Given the description of an element on the screen output the (x, y) to click on. 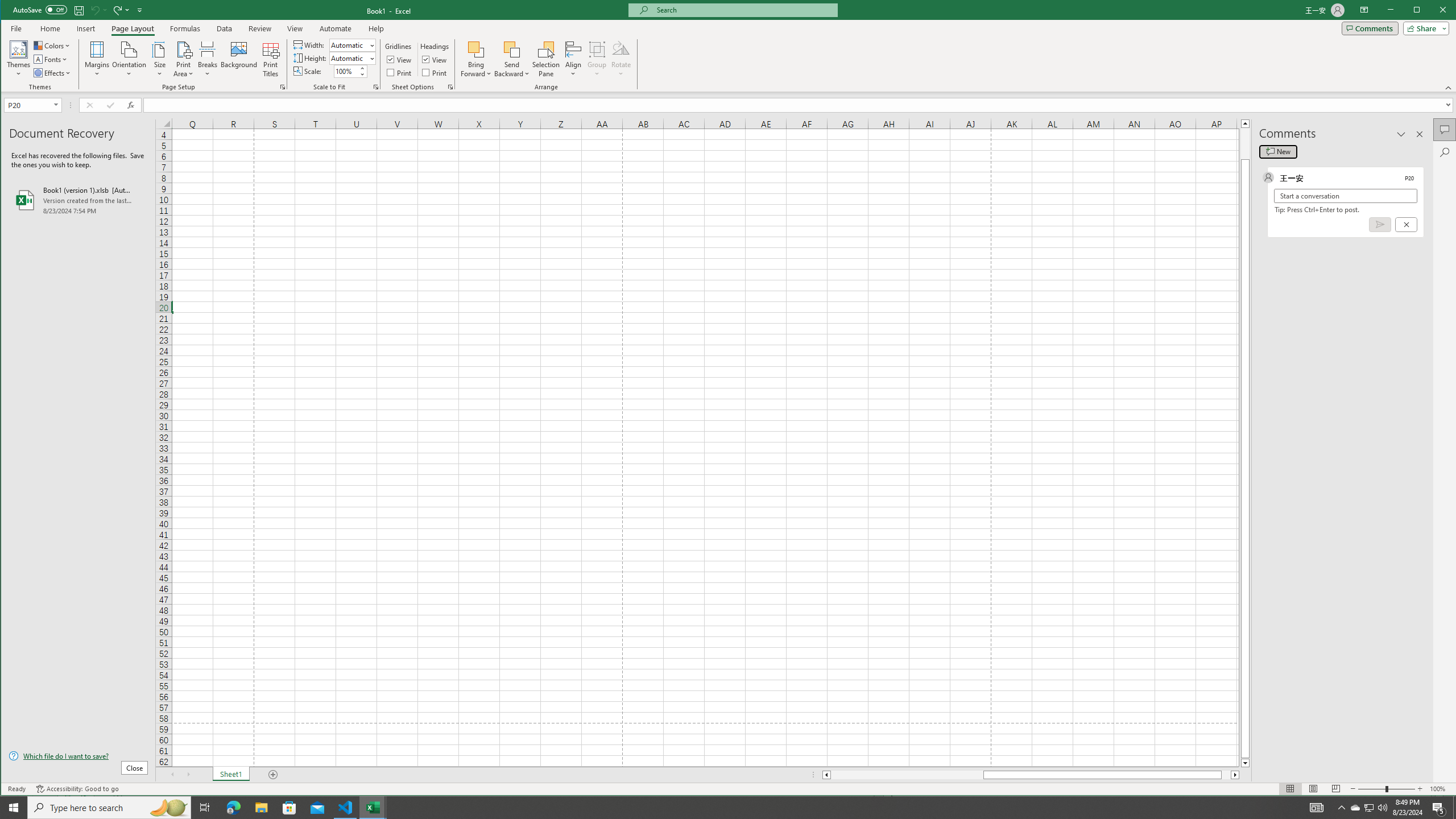
Width (352, 44)
Maximize (1432, 11)
Search highlights icon opens search home window (167, 807)
Show desktop (1454, 807)
File Explorer (261, 807)
